Given the description of an element on the screen output the (x, y) to click on. 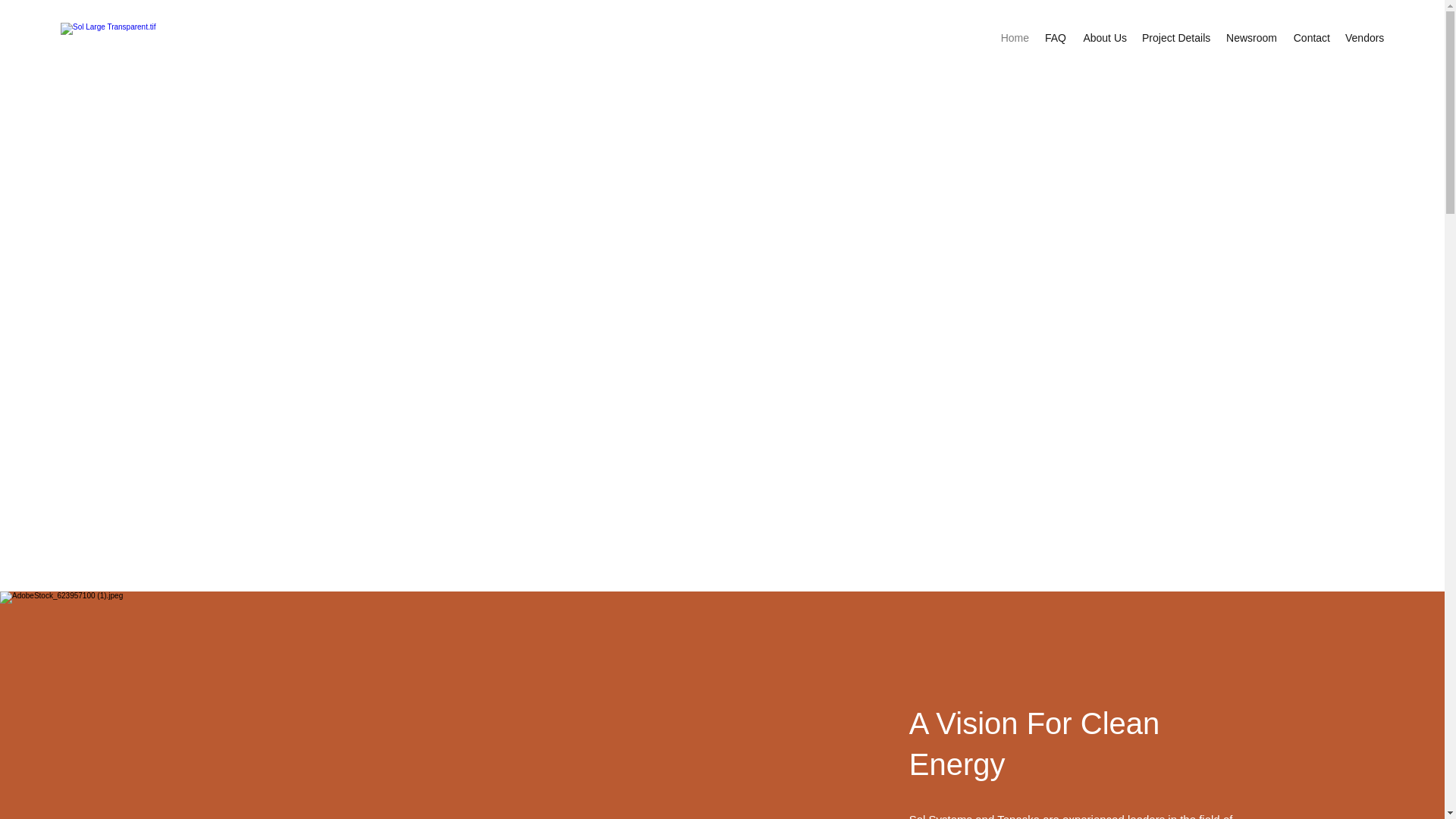
Contact (1311, 37)
Vendors (1364, 37)
Newsroom (1250, 37)
FAQ (1055, 37)
Project Details (1175, 37)
About Us (1104, 37)
Project Details (721, 410)
Home (1014, 37)
